Given the description of an element on the screen output the (x, y) to click on. 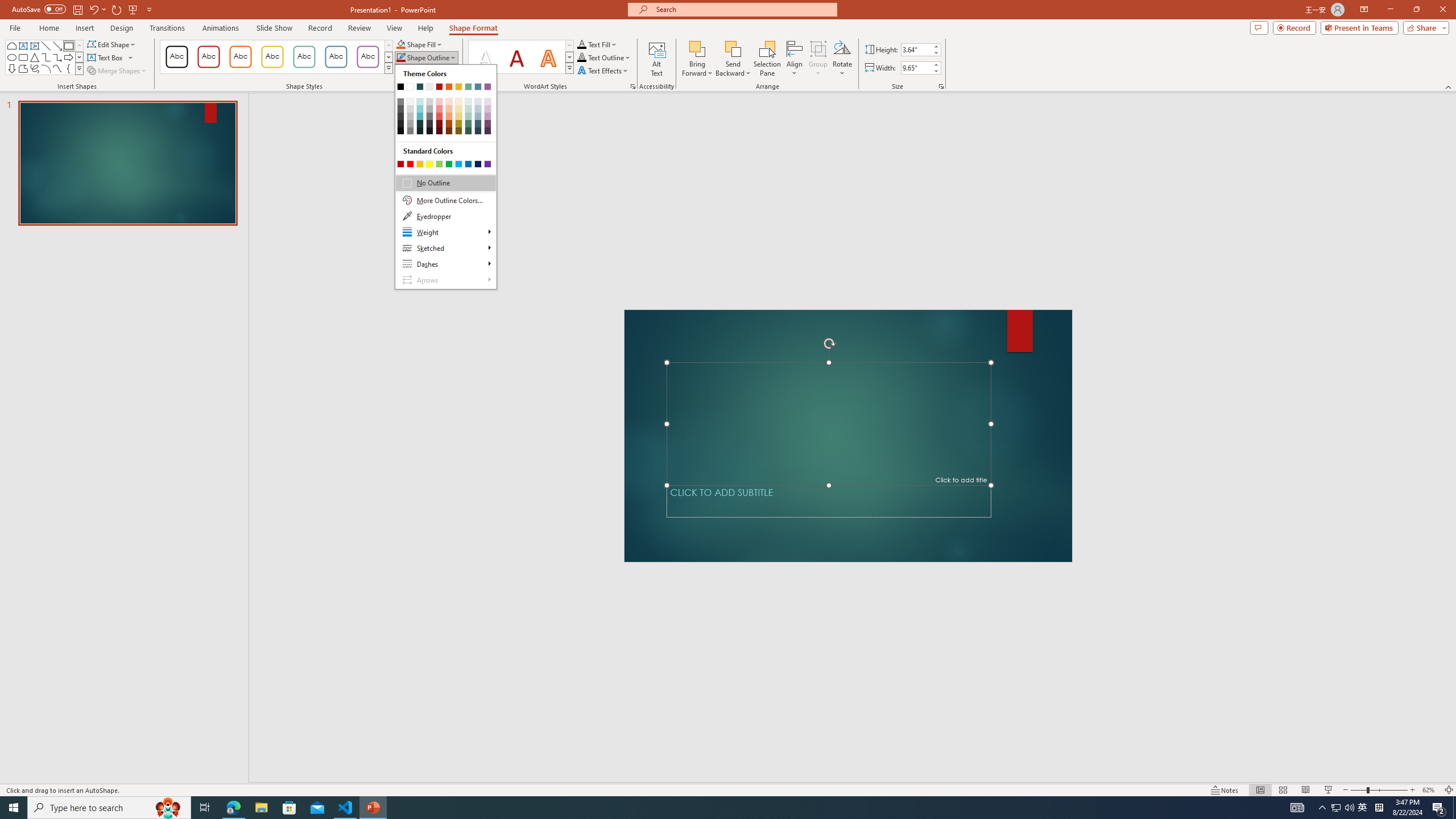
Send Backward (733, 58)
Group (817, 58)
Size and Position... (941, 85)
Text Outline RGB(0, 0, 0) (581, 56)
Send Backward (733, 48)
Shape Height (915, 49)
Colored Outline - Dark Red, Accent 1 (208, 56)
